Given the description of an element on the screen output the (x, y) to click on. 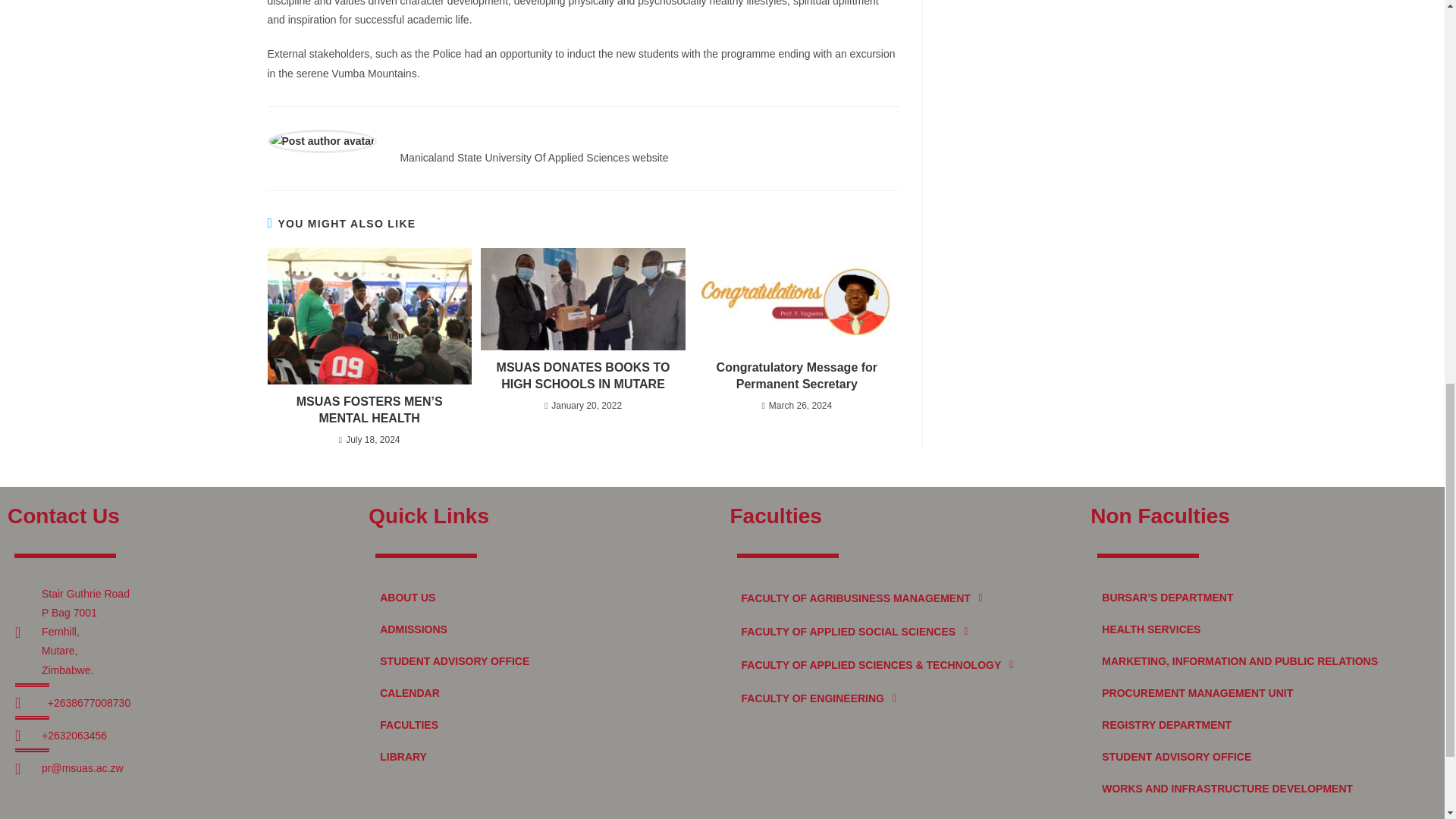
Visit author page (321, 140)
